Given the description of an element on the screen output the (x, y) to click on. 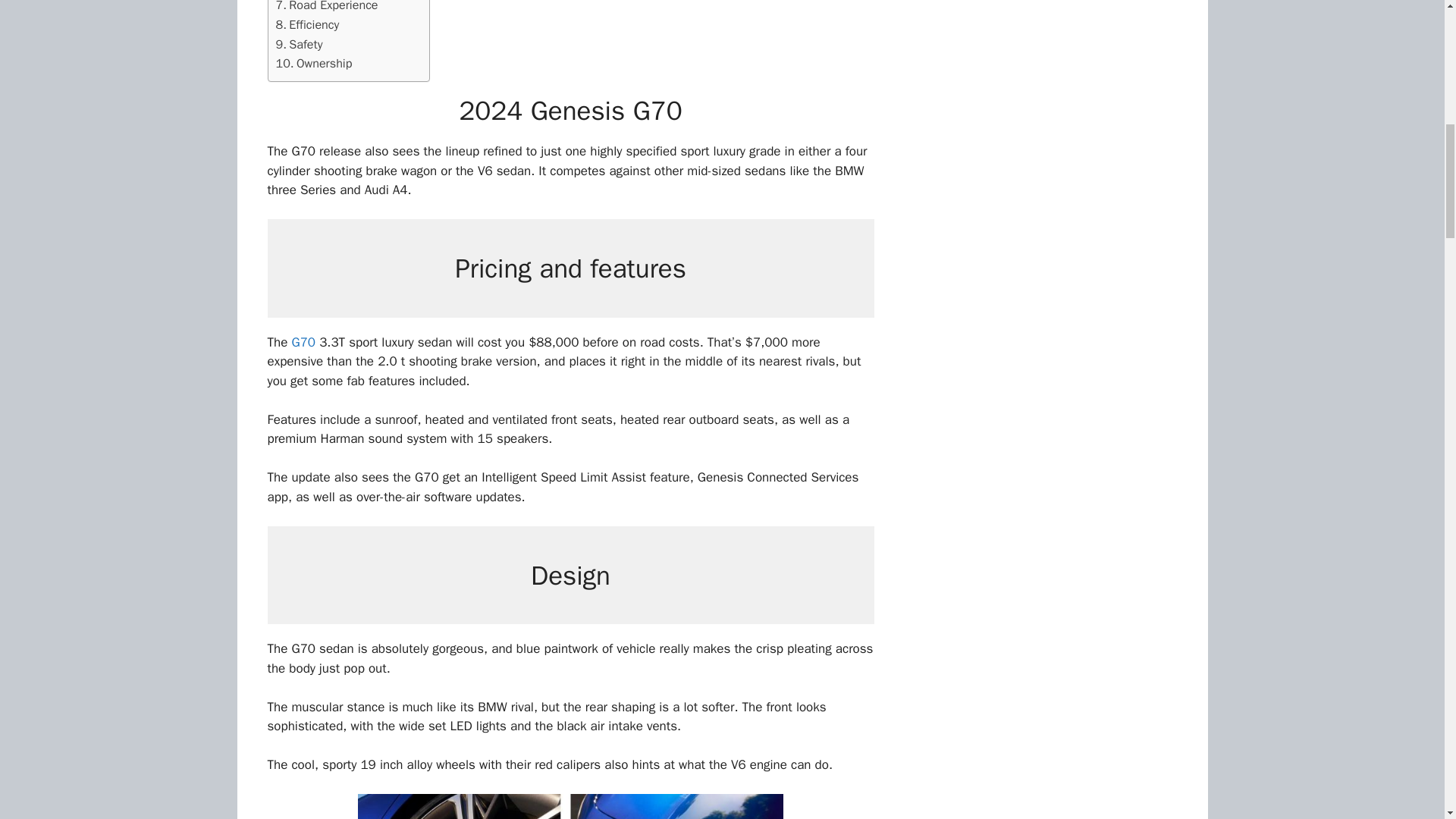
Road Experience (327, 7)
Safety (299, 44)
G70 (303, 342)
Efficiency (307, 25)
Ownership (314, 63)
